Given the description of an element on the screen output the (x, y) to click on. 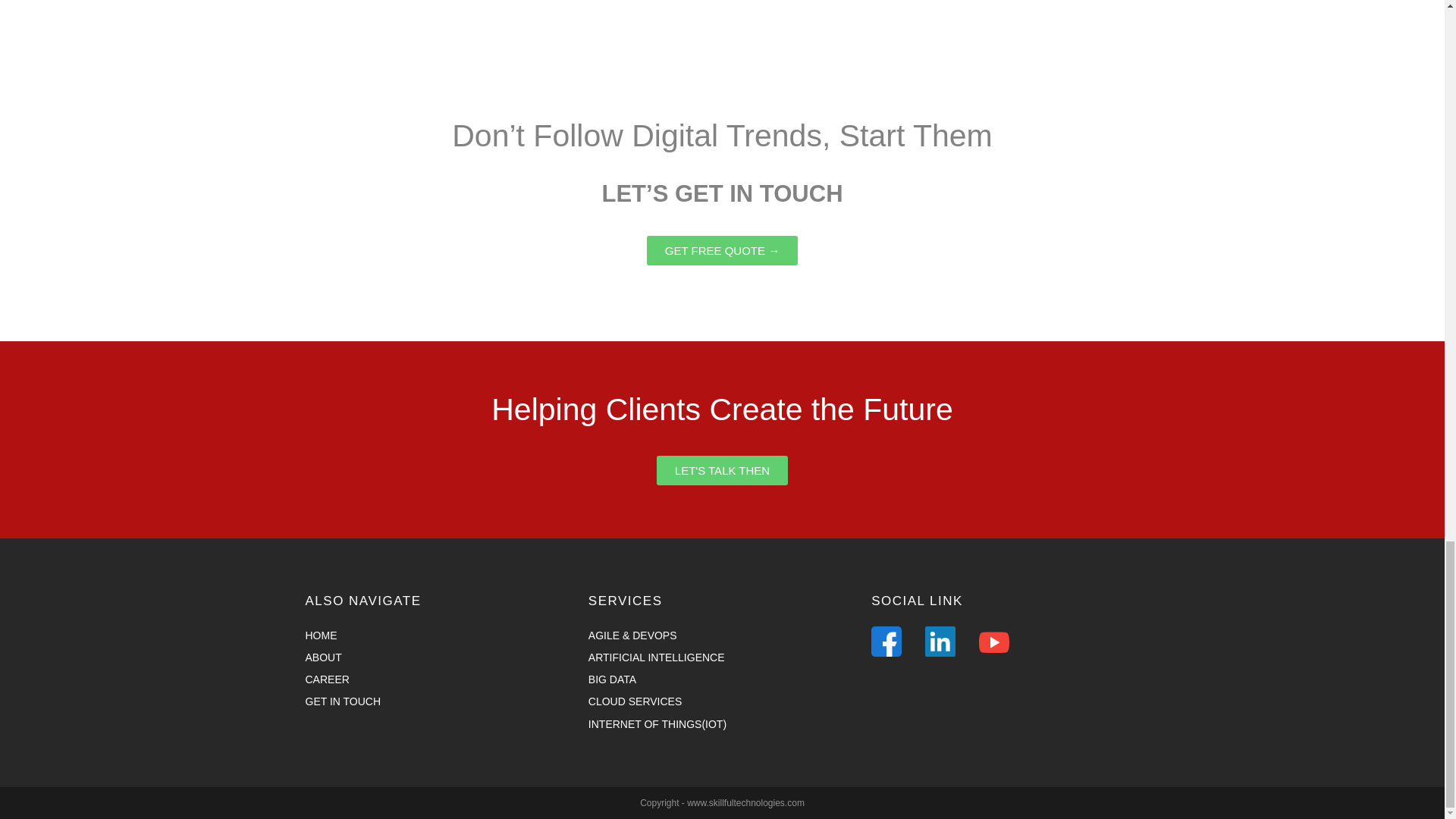
ABOUT (438, 657)
HOME (438, 635)
BIG DATA (722, 679)
LET'S TALK THEN (721, 470)
CLOUD SERVICES (722, 701)
ARTIFICIAL INTELLIGENCE (722, 657)
CAREER (438, 679)
GET IN TOUCH (438, 701)
